Given the description of an element on the screen output the (x, y) to click on. 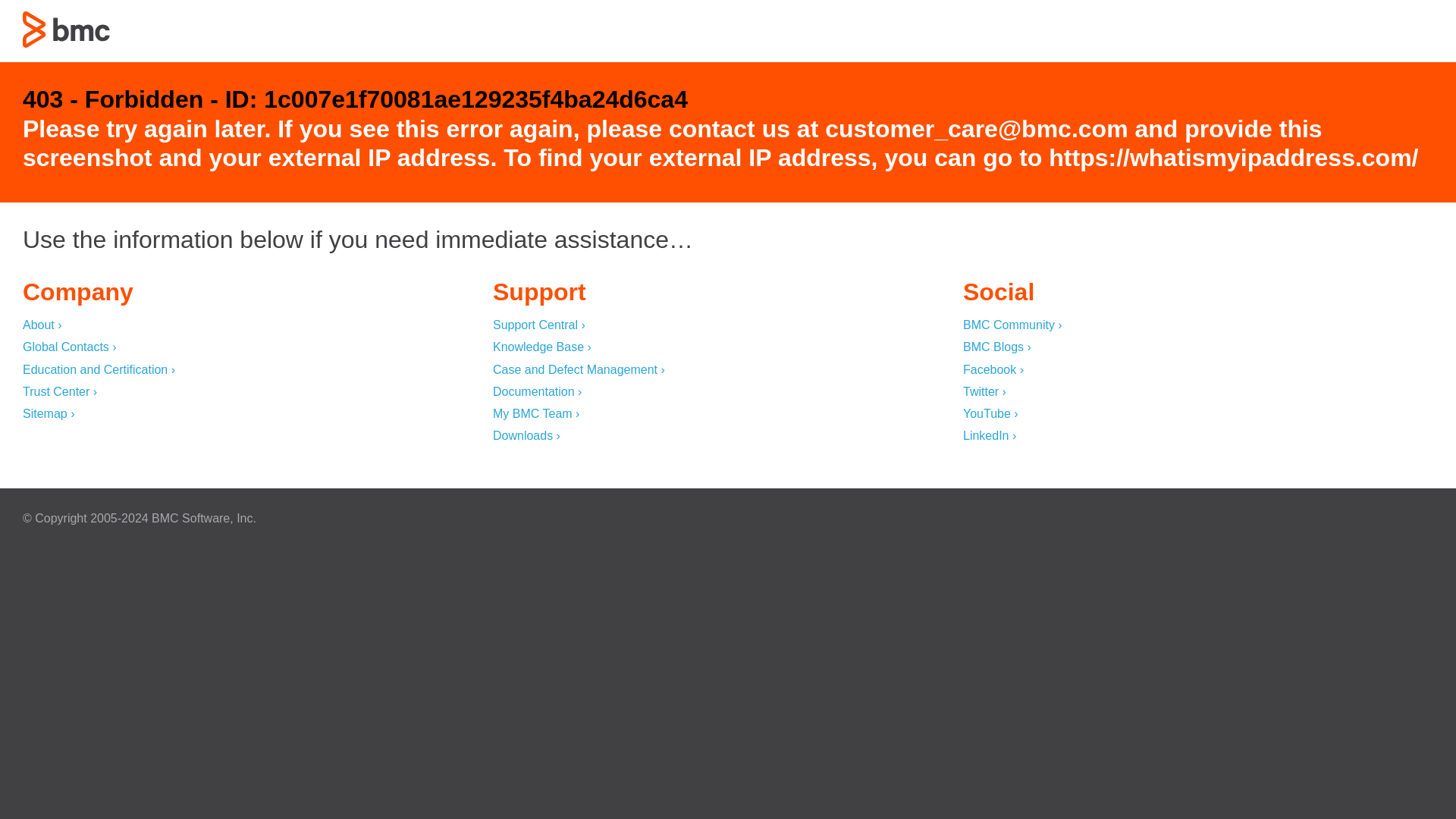
403 - Forbidden (66, 29)
